Given the description of an element on the screen output the (x, y) to click on. 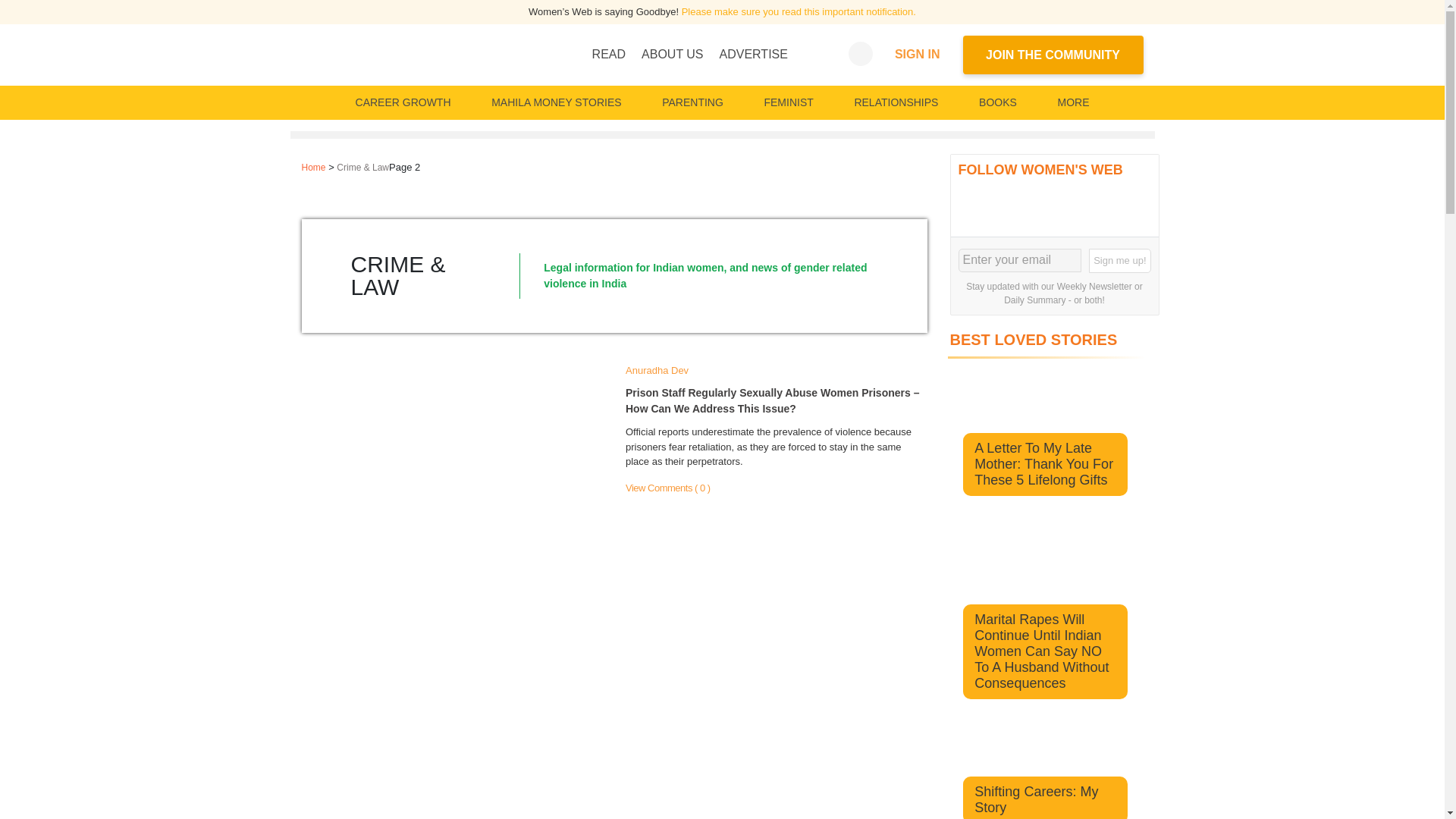
Shifting Careers: My Story (1035, 798)
ABOUT US (672, 54)
RELATIONSHIPS (894, 102)
Sign me up! (1119, 260)
Shifting Careers: My Story (1045, 749)
CAREER GROWTH (402, 102)
BOOKS (998, 102)
